Given the description of an element on the screen output the (x, y) to click on. 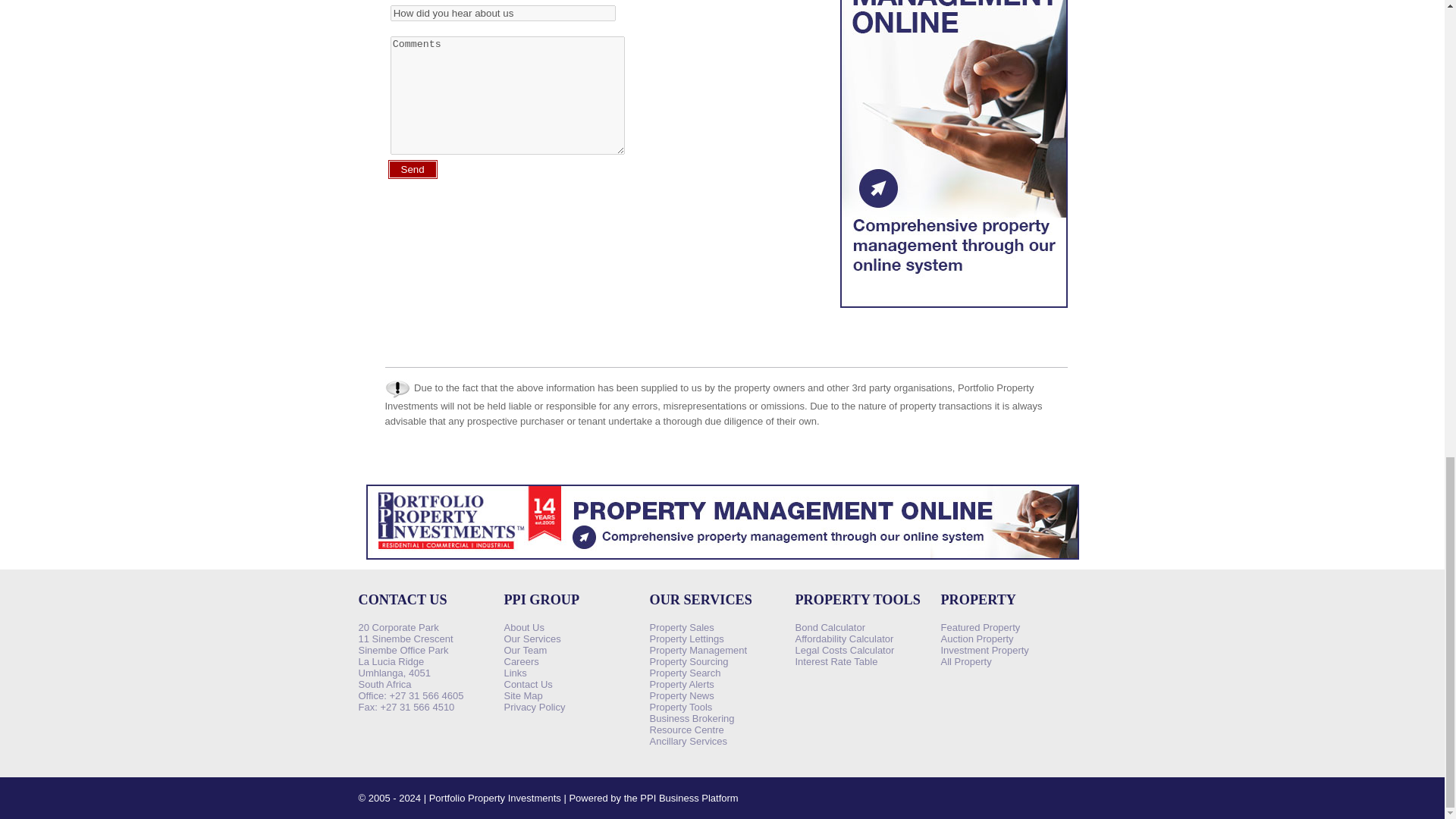
Property Management (697, 650)
Property Lettings (686, 638)
Send (412, 168)
Our Services (531, 638)
Property Search (684, 672)
Contact Us (527, 684)
Links (514, 672)
How did you hear about us (502, 12)
Property Sales (681, 627)
Site Map (522, 695)
Our Team (525, 650)
About Us (523, 627)
Property Sourcing (688, 661)
Property Alerts (681, 684)
Careers (520, 661)
